Given the description of an element on the screen output the (x, y) to click on. 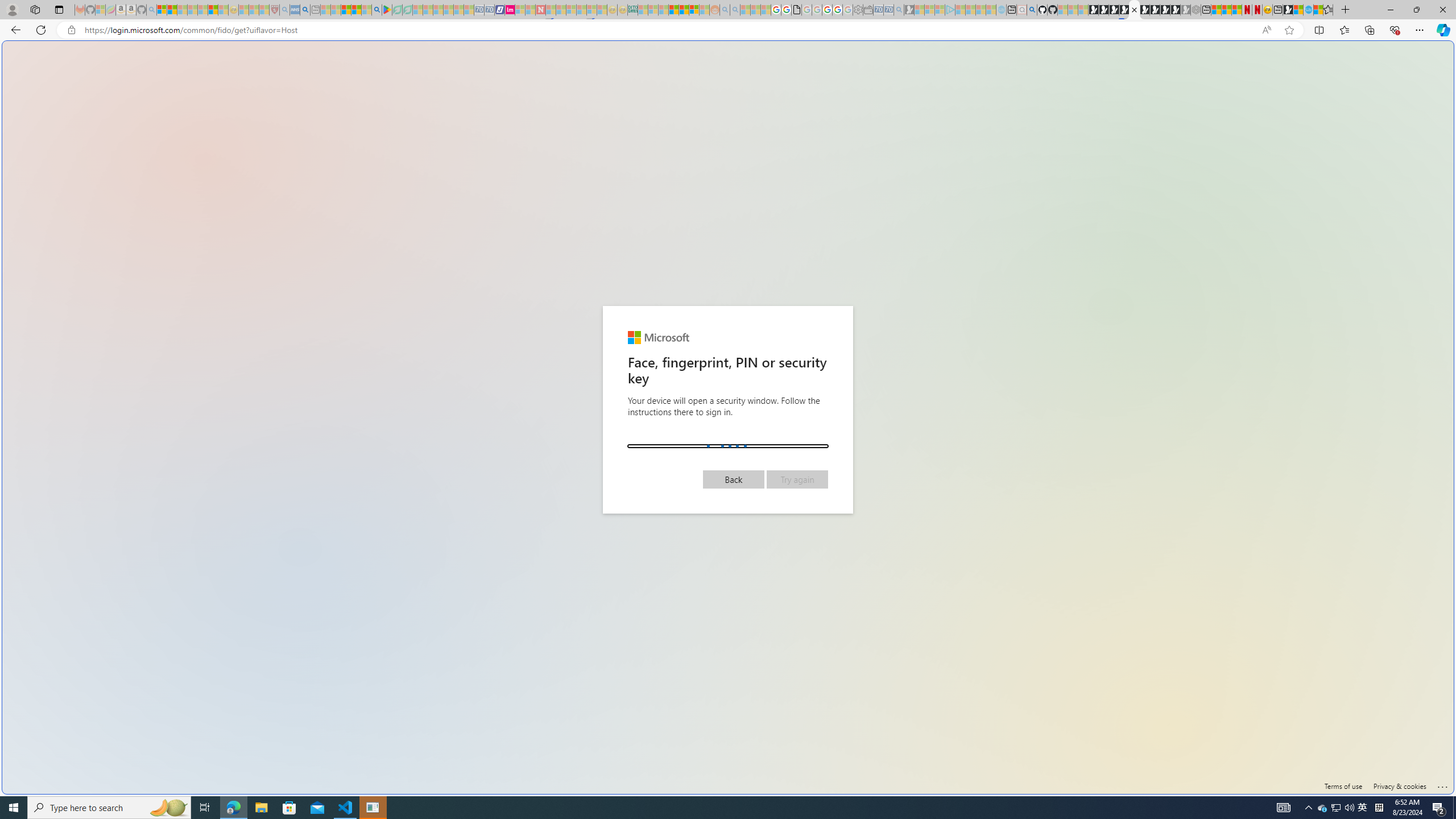
google_privacy_policy_zh-CN.pdf (796, 9)
Terms of Use Agreement - Sleeping (397, 9)
Bluey: Let's Play! - Apps on Google Play (387, 9)
Click here for troubleshooting information (1442, 784)
Search or enter web address (922, 108)
Wallet - Sleeping (867, 9)
Microsoft (657, 337)
